Given the description of an element on the screen output the (x, y) to click on. 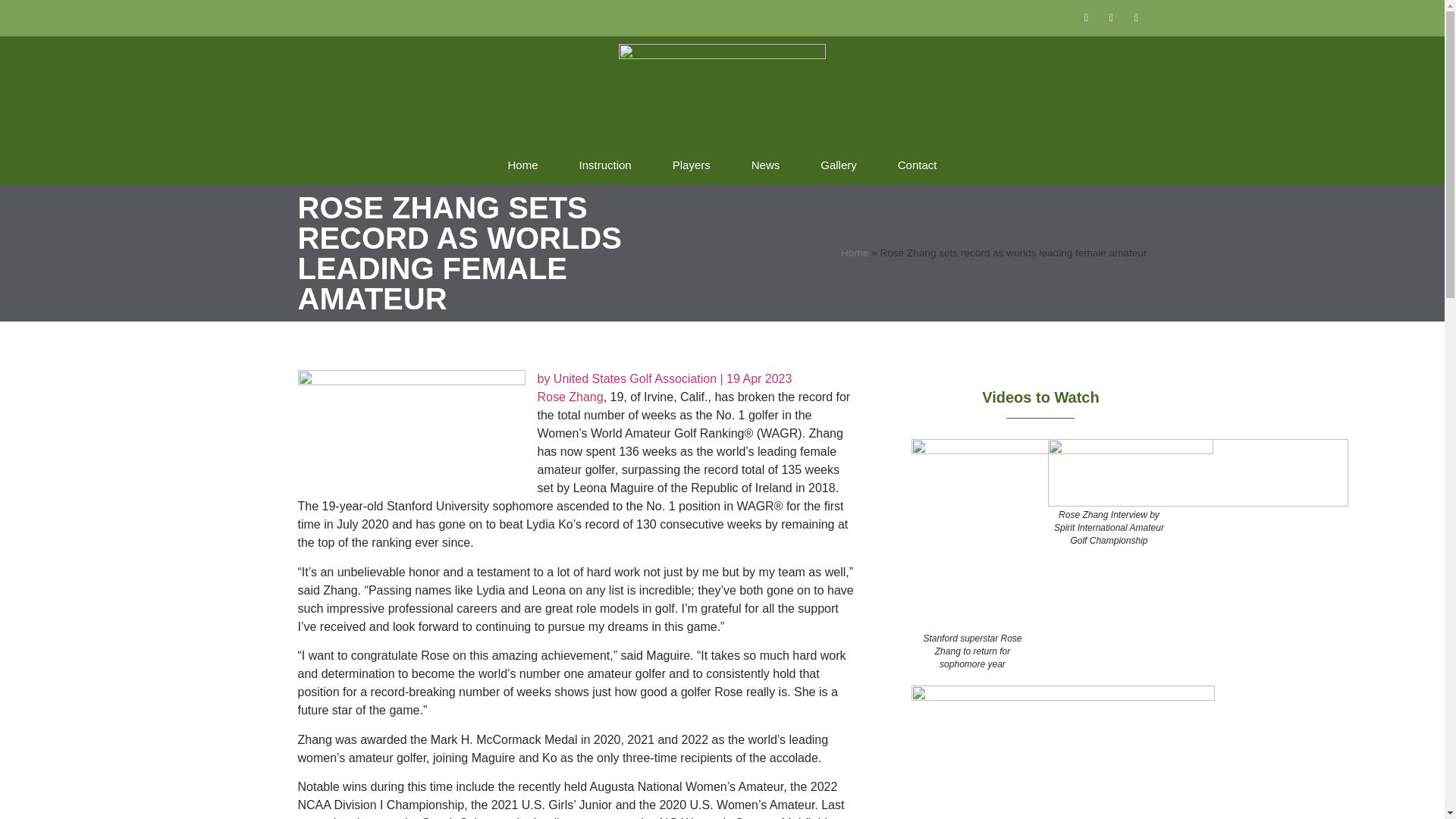
News (765, 165)
Home (521, 165)
Instruction (605, 165)
Gallery (838, 165)
Contact (917, 165)
Players (691, 165)
